Given the description of an element on the screen output the (x, y) to click on. 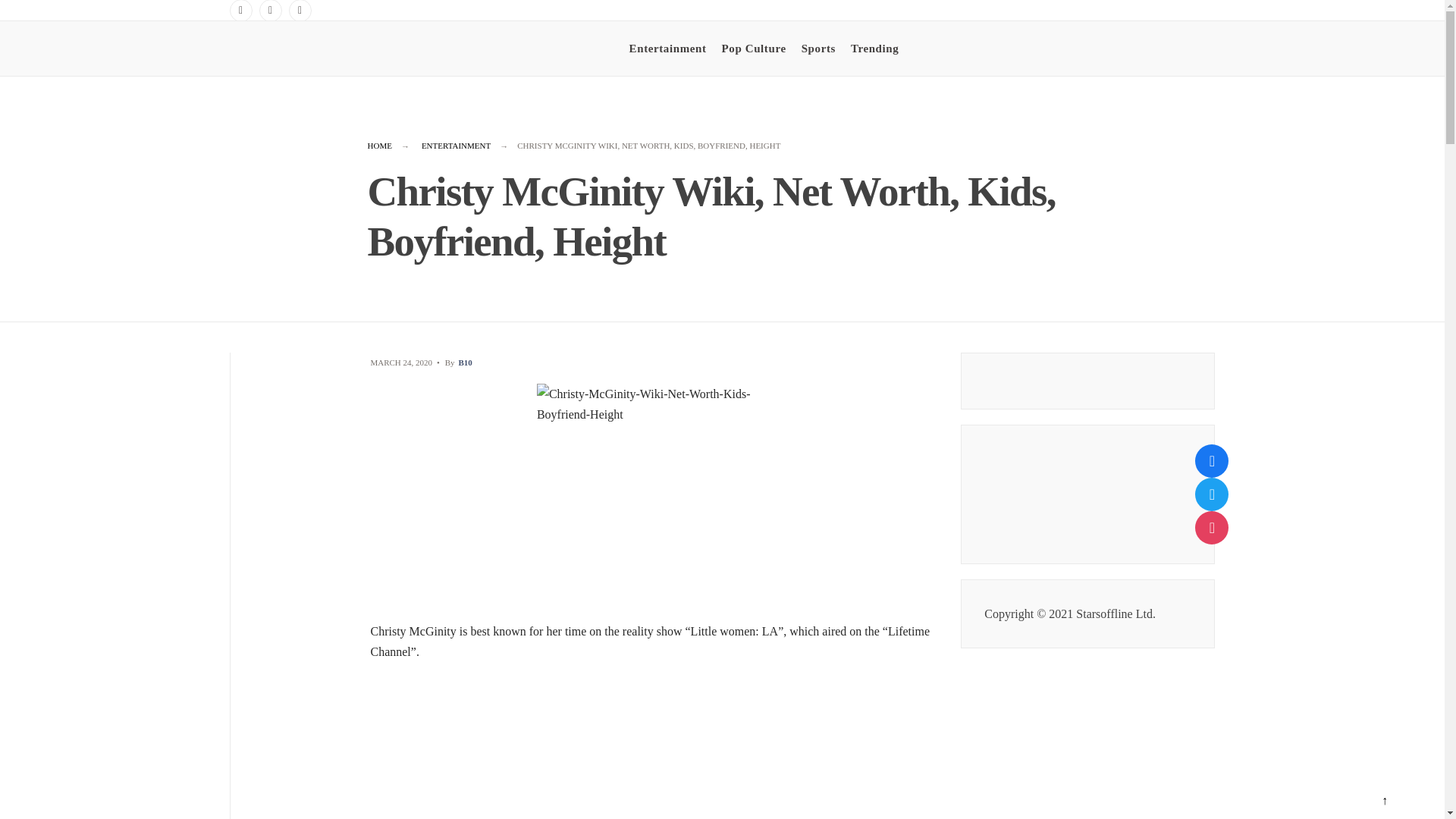
Trending (874, 48)
HOME (378, 144)
Scroll to top (1384, 801)
Sports (818, 48)
Entertainment (667, 48)
B10 (464, 361)
Pinterest (299, 10)
Posts by B10 (464, 361)
Pop Culture (754, 48)
ENTERTAINMENT (456, 144)
